Given the description of an element on the screen output the (x, y) to click on. 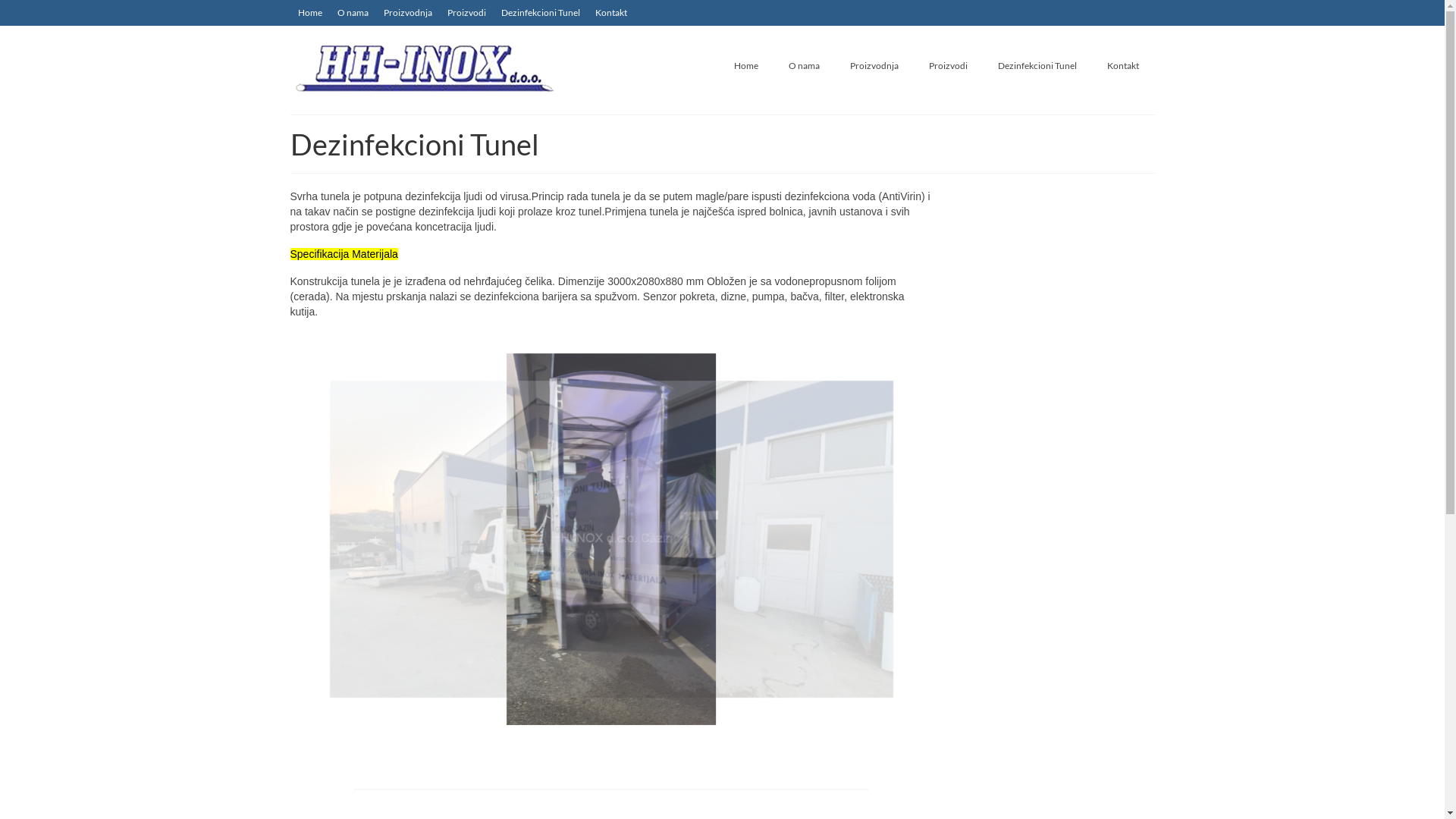
Kontakt Element type: text (1123, 65)
O nama Element type: text (352, 12)
Dezinfekcioni Tunel Element type: text (539, 12)
Dezinfekcioni Tunel Element type: text (1037, 65)
Home Element type: text (745, 65)
Proizvodi Element type: text (466, 12)
Kontakt Element type: text (609, 12)
O nama Element type: text (803, 65)
Home Element type: text (309, 12)
Proizvodnja Element type: text (873, 65)
Proizvodnja Element type: text (407, 12)
Proizvodi Element type: text (947, 65)
